Given the description of an element on the screen output the (x, y) to click on. 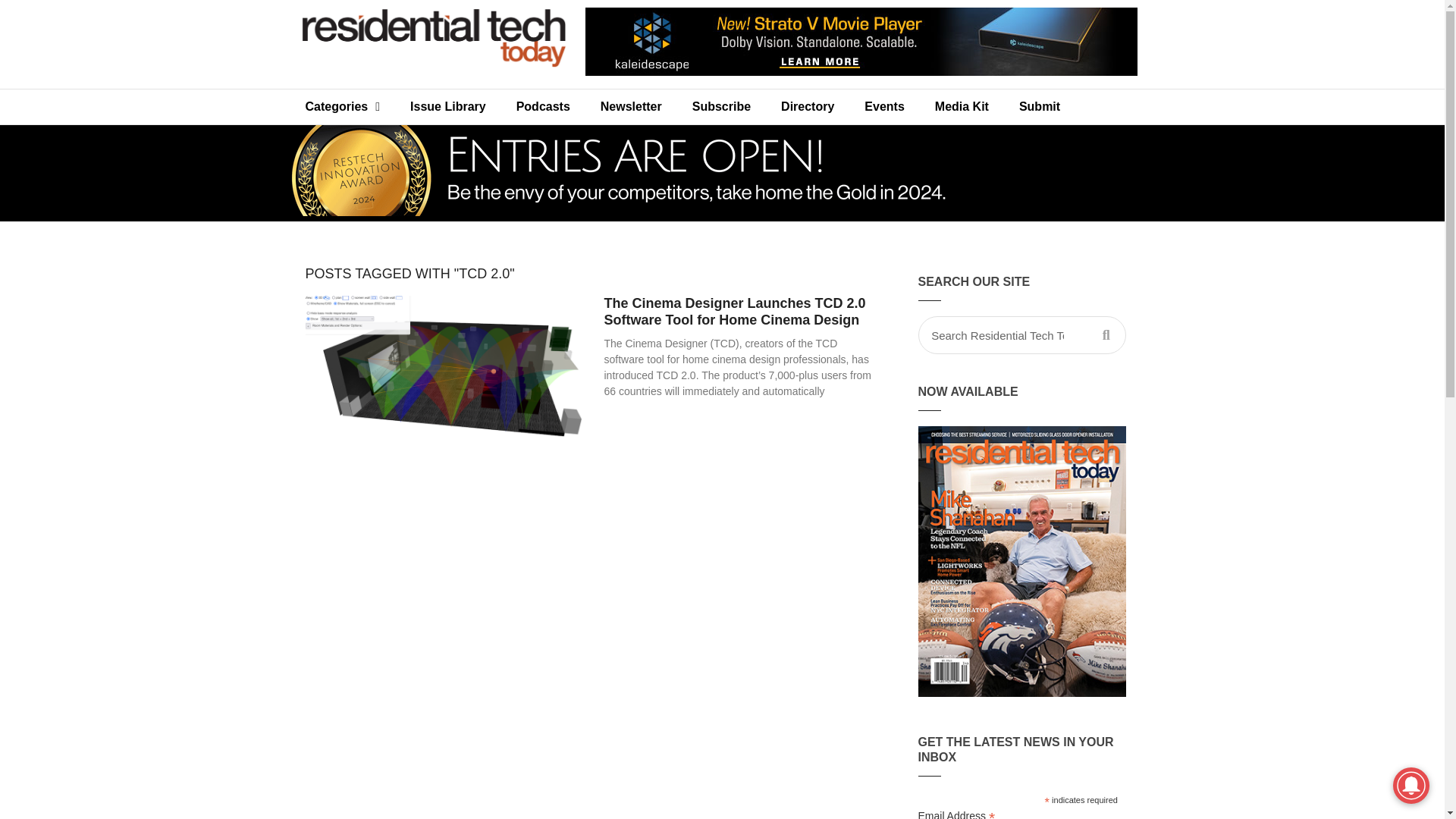
Directory (806, 106)
Issue Library (447, 106)
Newsletter (631, 106)
Submit (1039, 106)
Media Kit (962, 106)
Subscribe (721, 106)
3D Room 7 copy (440, 385)
Categories (341, 106)
Podcasts (542, 106)
Events (883, 106)
